Given the description of an element on the screen output the (x, y) to click on. 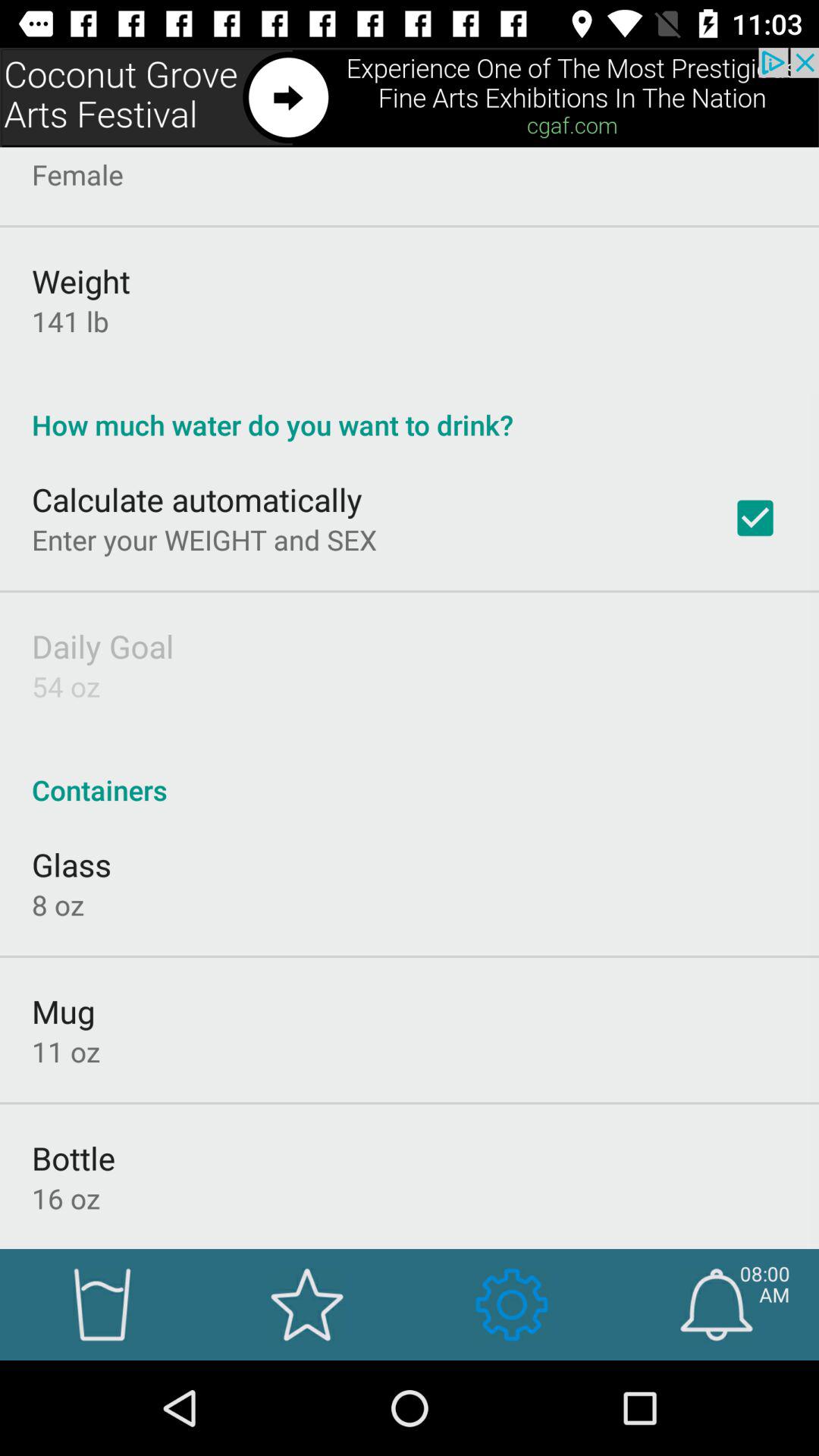
for add (409, 97)
